Given the description of an element on the screen output the (x, y) to click on. 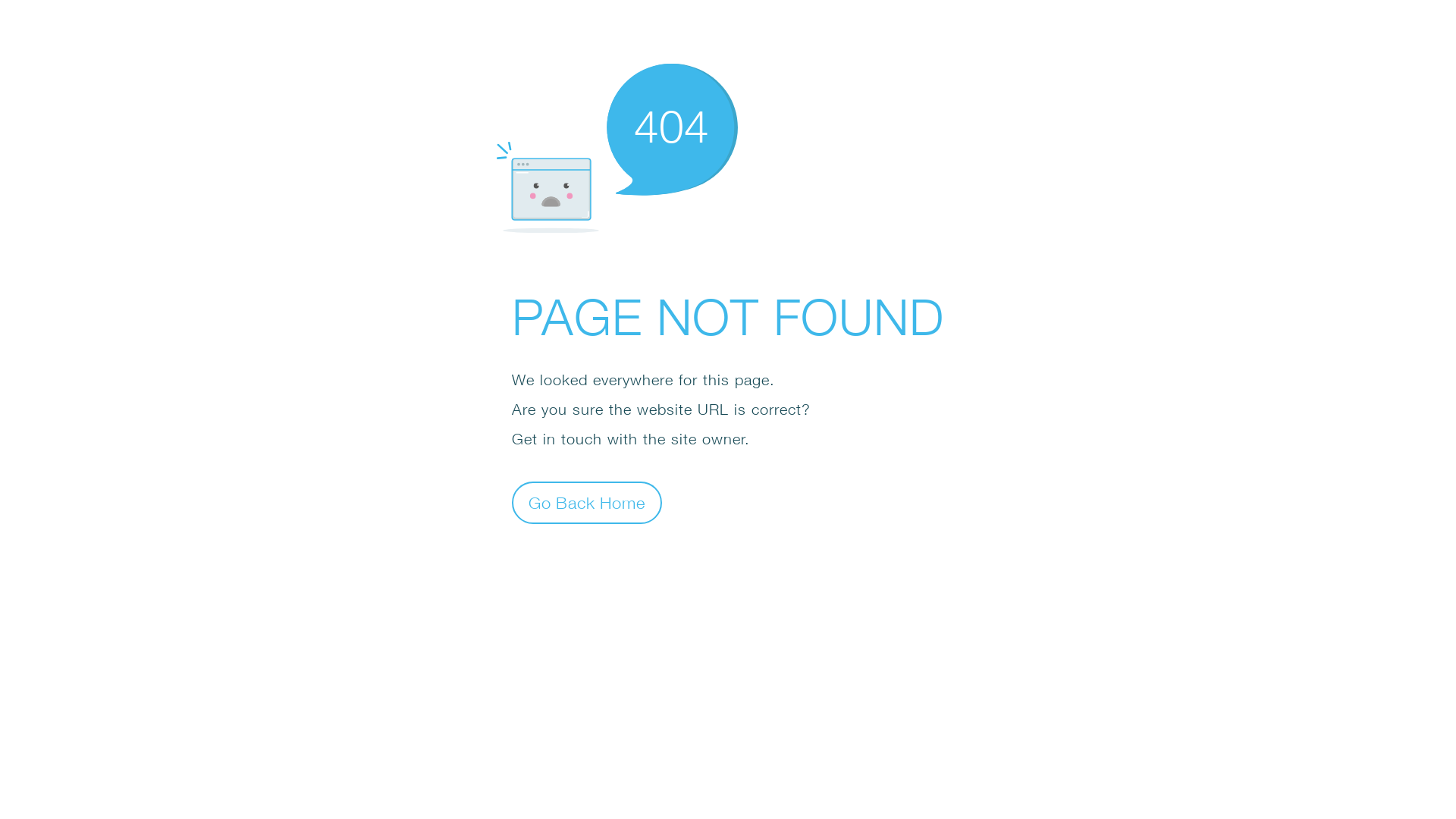
Go Back Home Element type: text (586, 502)
